Given the description of an element on the screen output the (x, y) to click on. 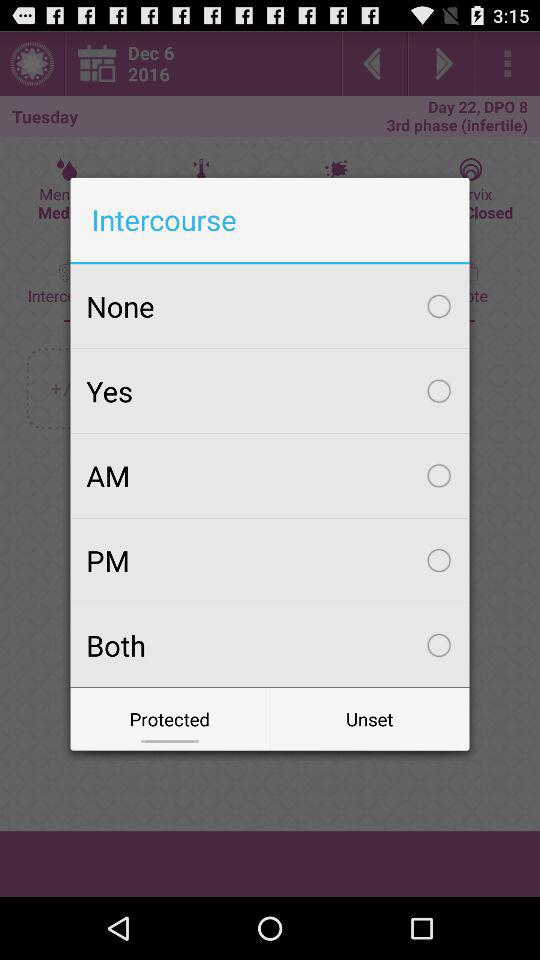
launch icon below am item (269, 560)
